Given the description of an element on the screen output the (x, y) to click on. 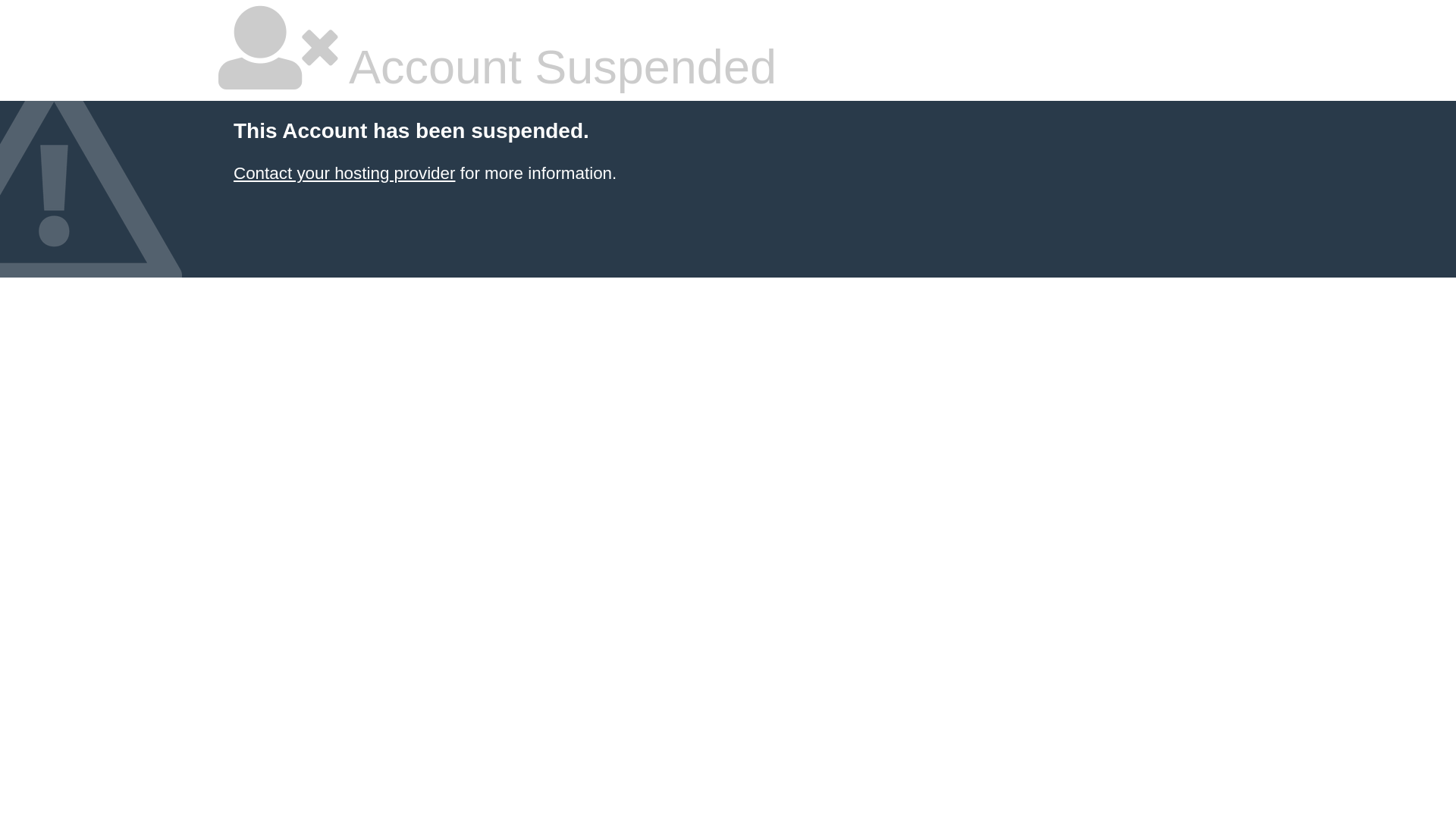
Contact your hosting provider Element type: text (344, 172)
